Given the description of an element on the screen output the (x, y) to click on. 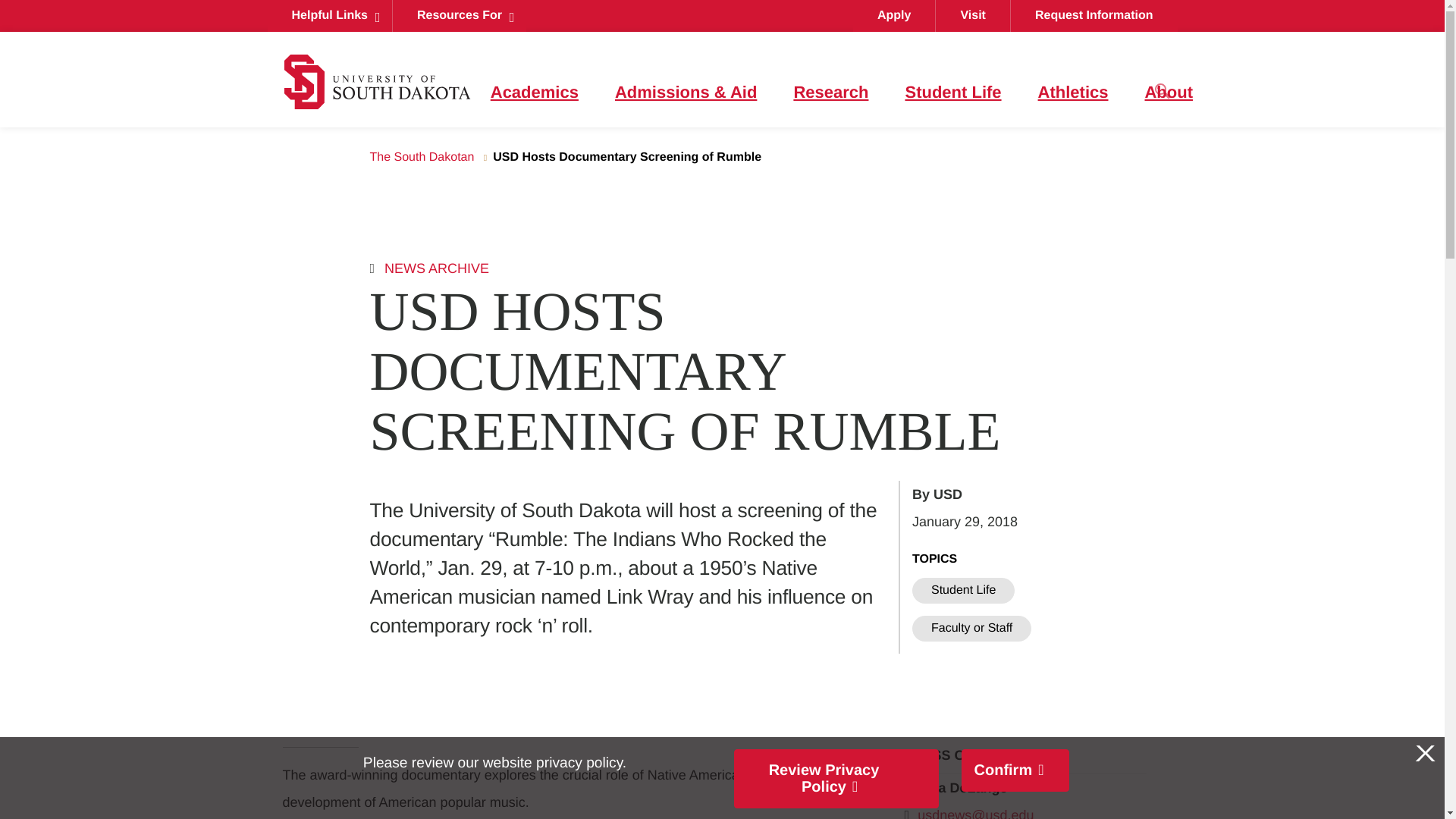
Academics (533, 92)
Research (830, 92)
